Given the description of an element on the screen output the (x, y) to click on. 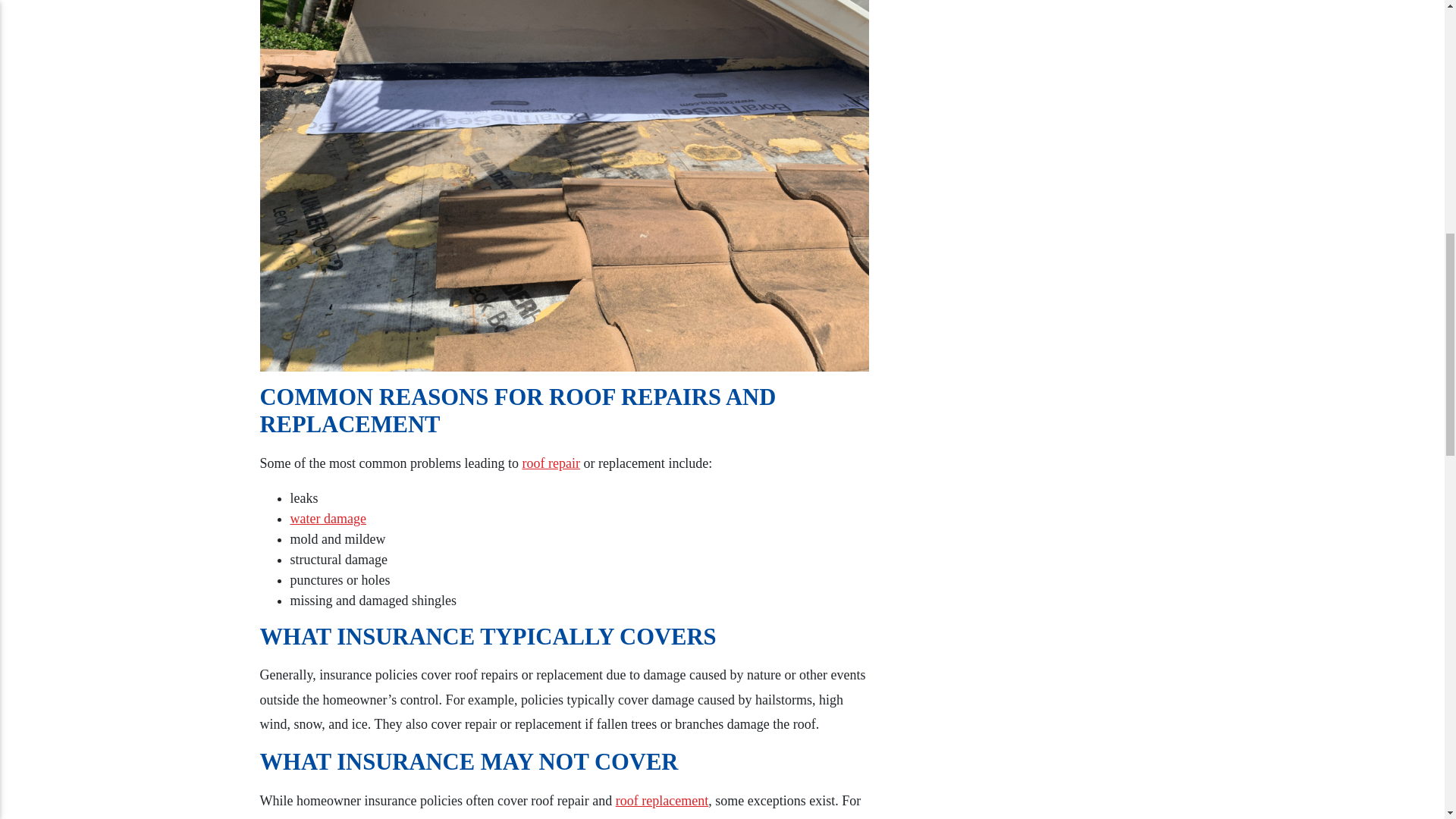
water damage (327, 518)
roof repair (550, 462)
roof replacement (661, 800)
